Given the description of an element on the screen output the (x, y) to click on. 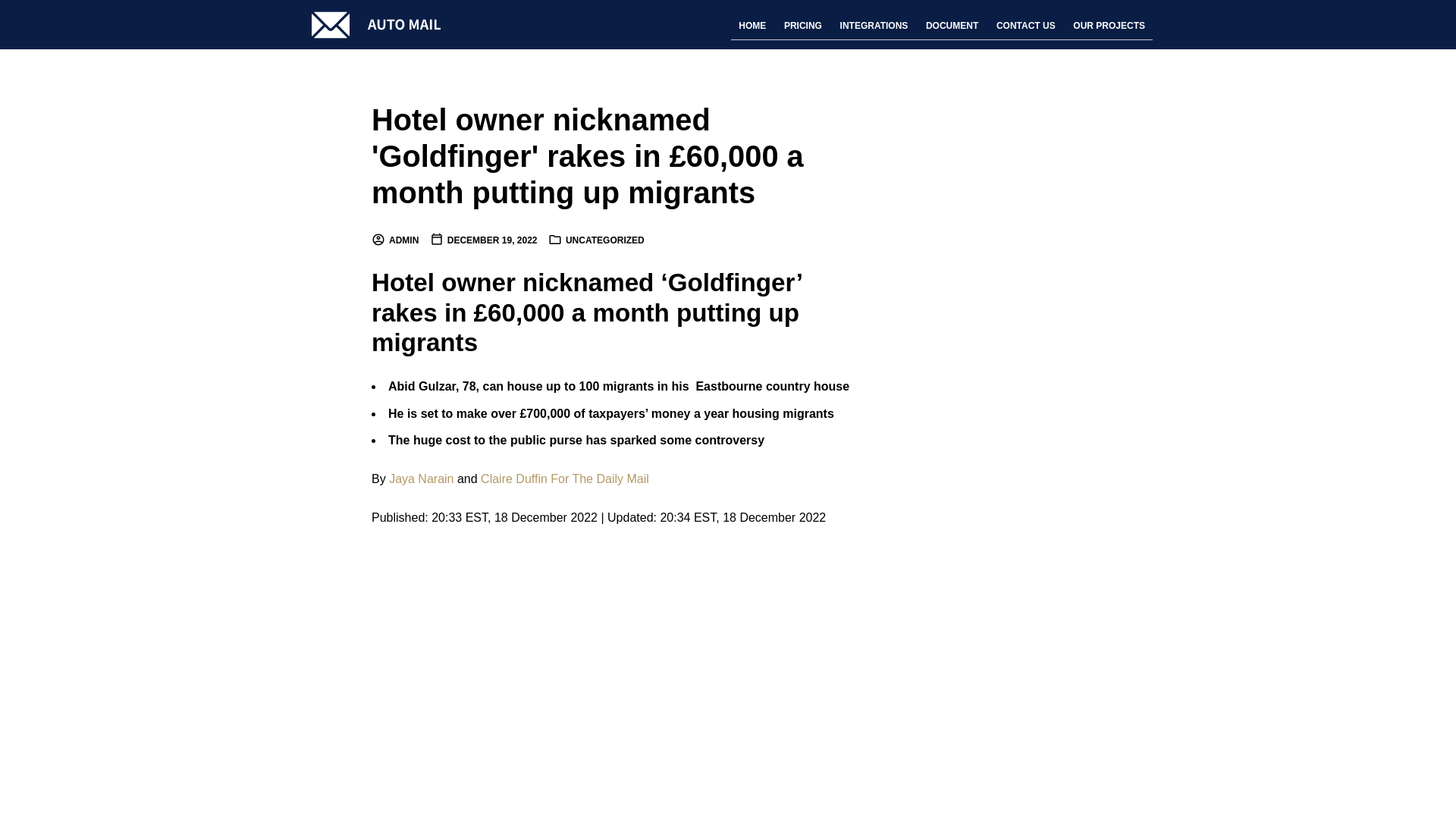
OUR PROJECTS (1109, 26)
HOME (751, 26)
1:07 pm (483, 240)
INTEGRATIONS (873, 26)
Jaya Narain (420, 478)
Claire Duffin For The Daily Mail (564, 478)
PRICING (802, 26)
CONTACT US (1025, 26)
ADMIN (395, 240)
DOCUMENT (951, 26)
